Given the description of an element on the screen output the (x, y) to click on. 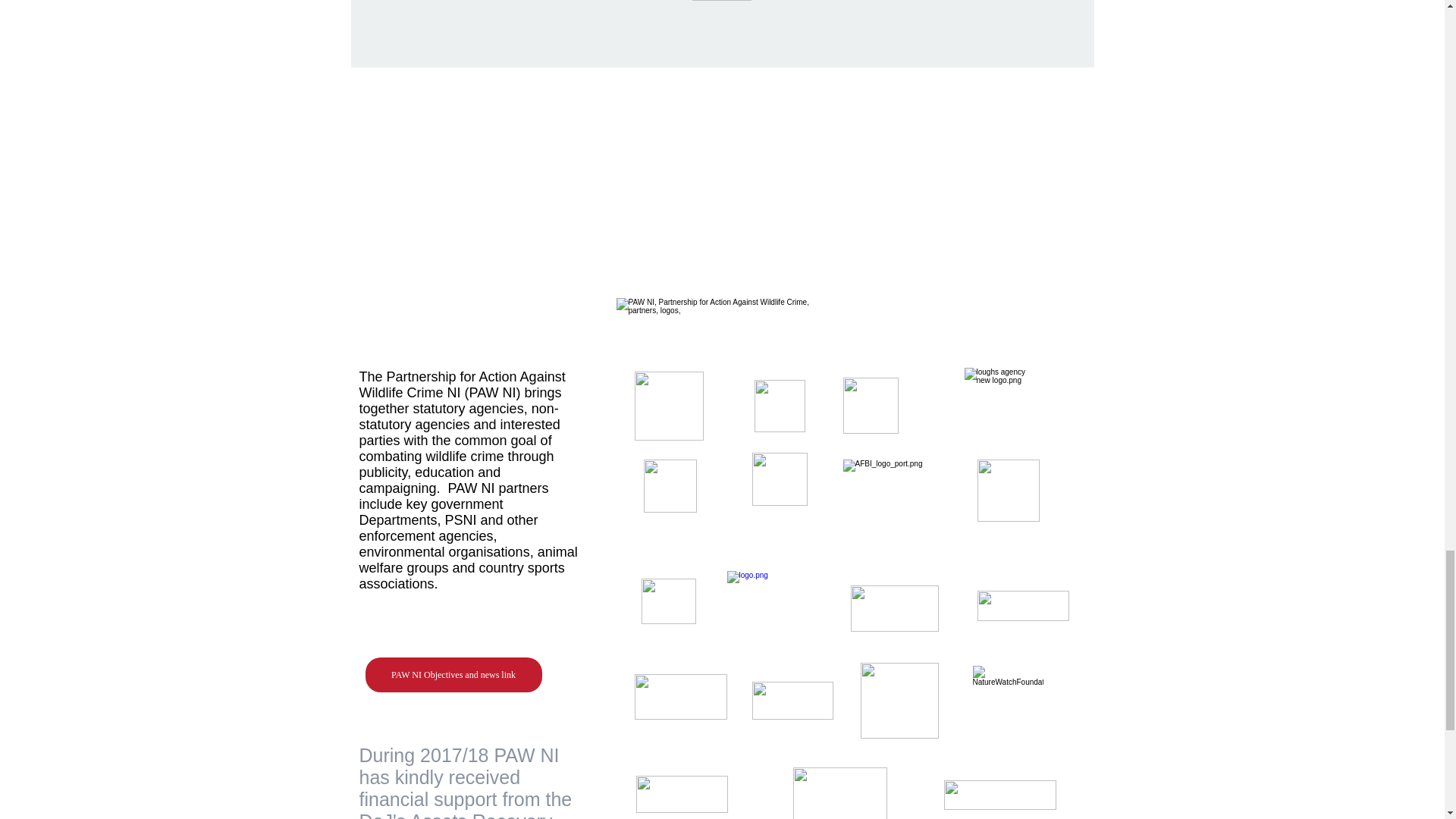
PAW NI Objectives and news link (453, 674)
UlsterAnglersAssociation.png (779, 406)
PAW NI Partners.png (715, 325)
1 NIRSG logo.png (1007, 490)
nibg logo2.png (894, 608)
PSNI Logo newcrest.png (668, 405)
Ulster Wildlife Logo.png (870, 405)
